Given the description of an element on the screen output the (x, y) to click on. 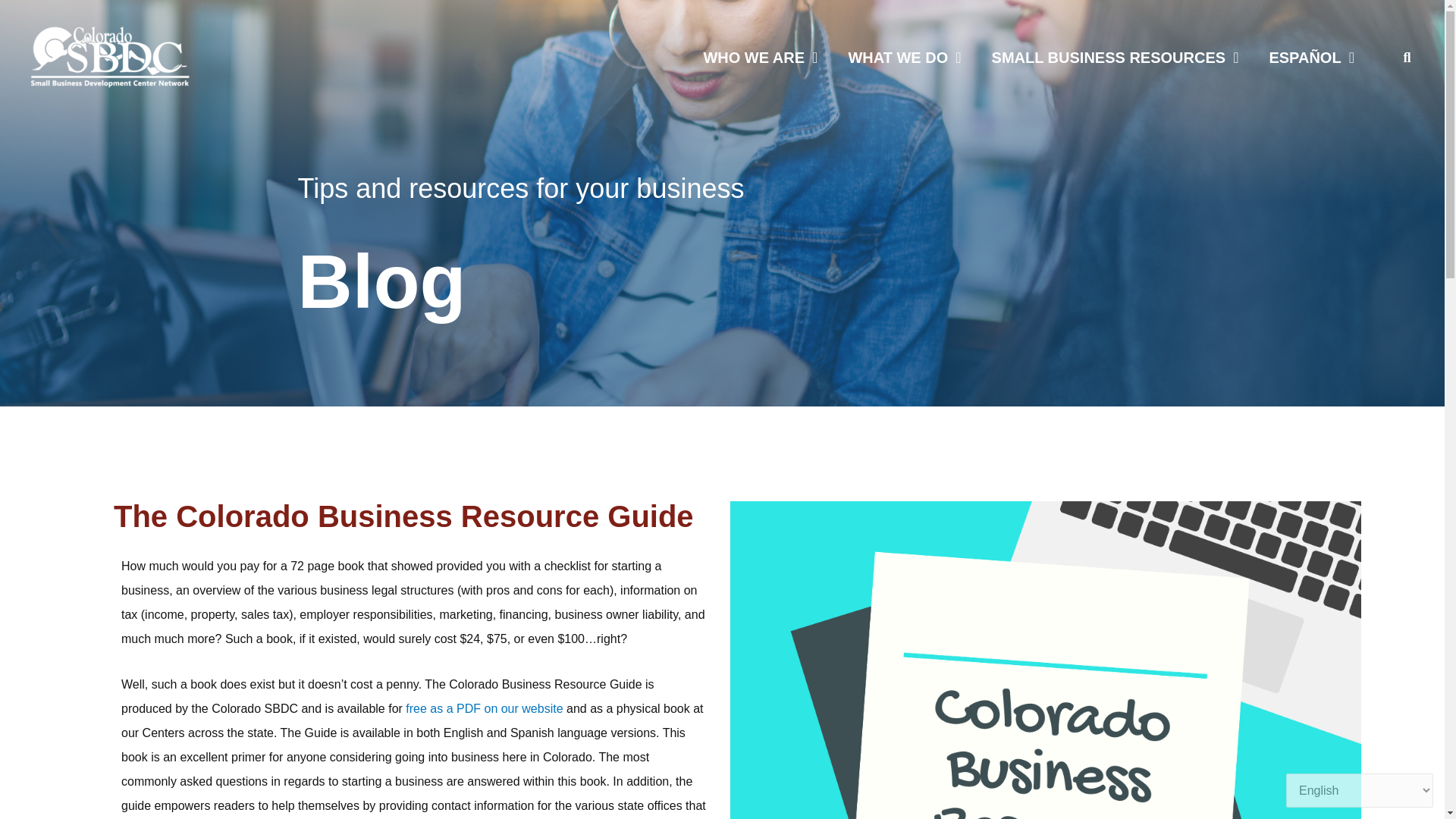
WHAT WE DO (903, 57)
WHO WE ARE (759, 57)
SMALL BUSINESS RESOURCES (1114, 57)
